Given the description of an element on the screen output the (x, y) to click on. 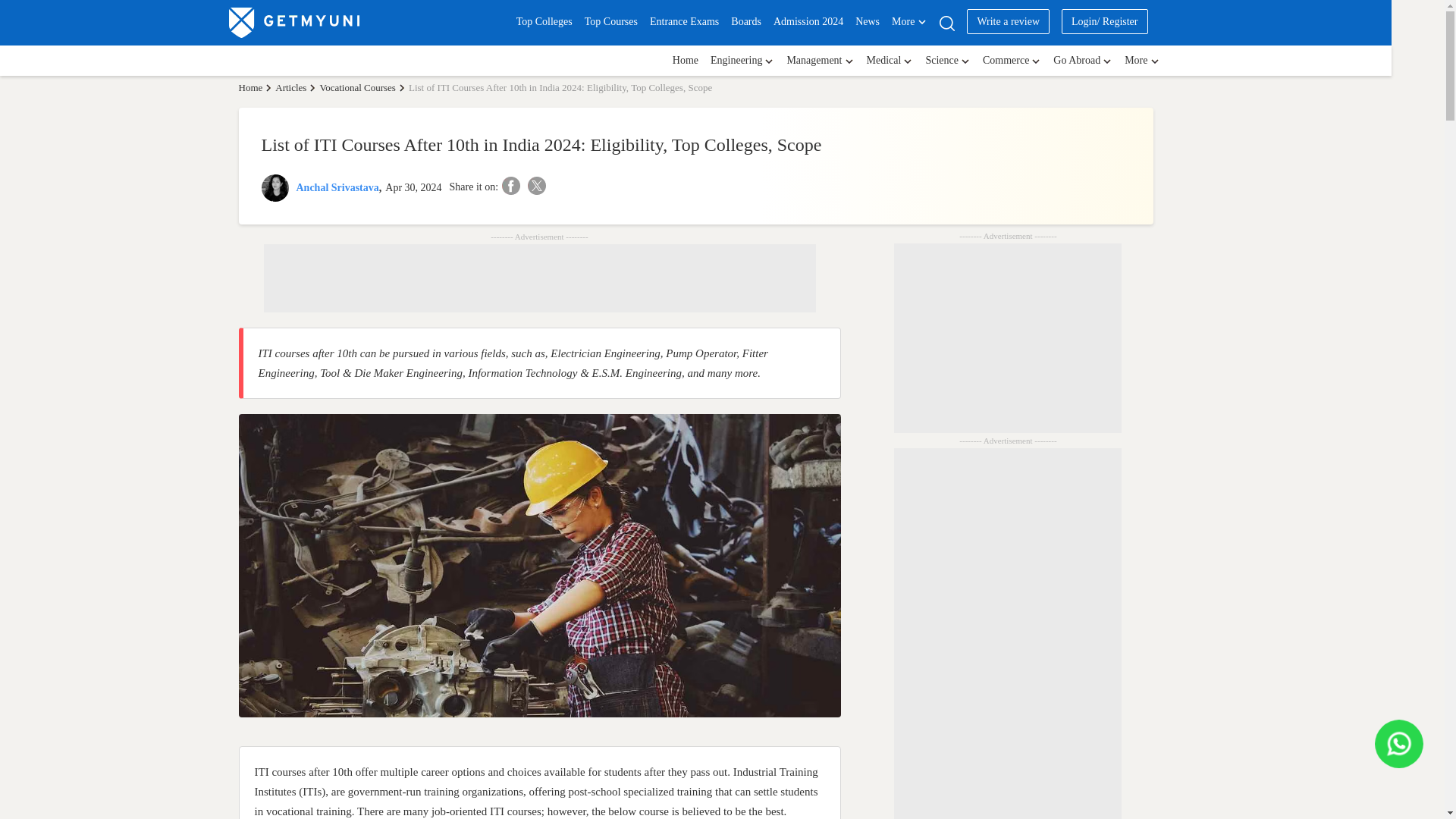
Education Boards in India (745, 21)
Engineering (742, 60)
News (867, 21)
Top Courses (611, 21)
Courses in India (611, 21)
Top Colleges (544, 21)
Top Colleges in India (544, 21)
College Admission in India (808, 21)
Getmyuni (294, 22)
Entrance Exams in India (684, 21)
Write a review (1007, 21)
Home (255, 87)
Write a Review (1007, 21)
Entrance Exams (684, 21)
Boards (745, 21)
